Given the description of an element on the screen output the (x, y) to click on. 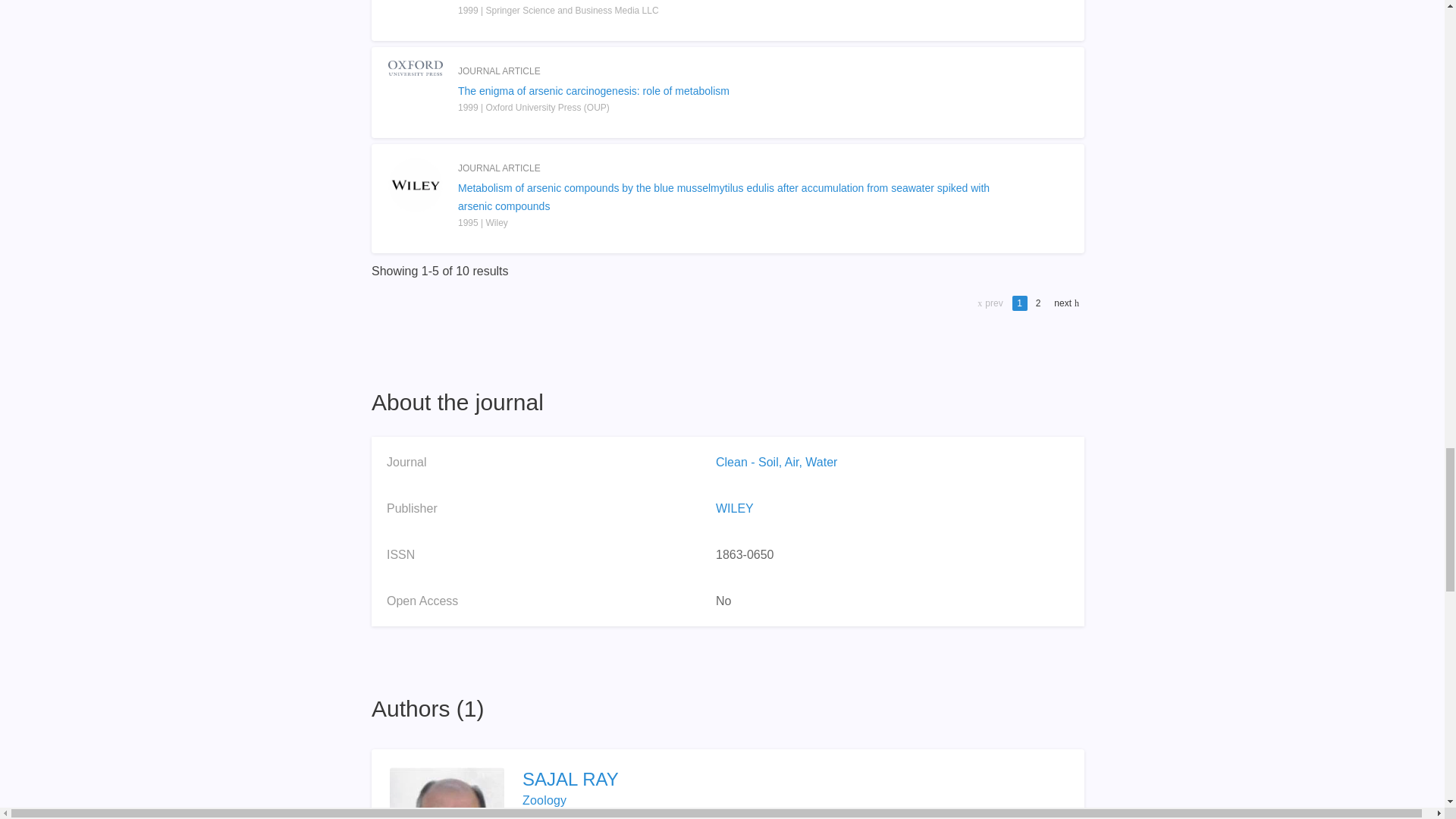
next (1064, 303)
Publication cover (415, 9)
Publication cover (415, 68)
Clean - Soil, Air, Water (776, 461)
Publication cover (415, 185)
The enigma of arsenic carcinogenesis: role of metabolism (727, 90)
WILEY (735, 508)
1 (1019, 303)
SAJAL RAY (793, 779)
Zoology (544, 799)
